Given the description of an element on the screen output the (x, y) to click on. 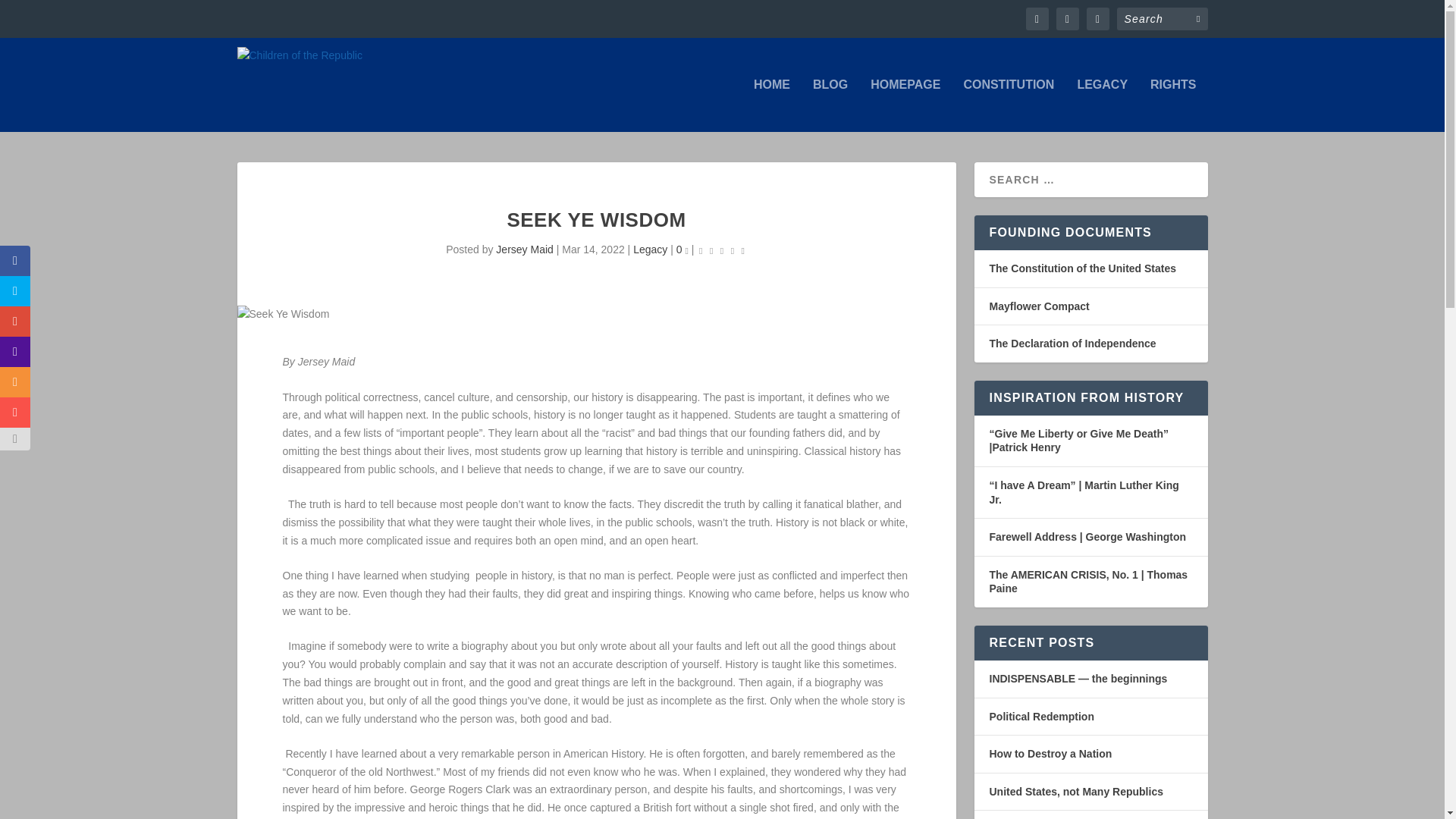
0 (682, 249)
CONSTITUTION (1008, 104)
Search for: (1161, 18)
HOMEPAGE (905, 104)
Jersey Maid (524, 249)
Rating: 5.00 (721, 250)
Posts by Jersey Maid (524, 249)
Legacy (649, 249)
LEGACY (1101, 104)
